Given the description of an element on the screen output the (x, y) to click on. 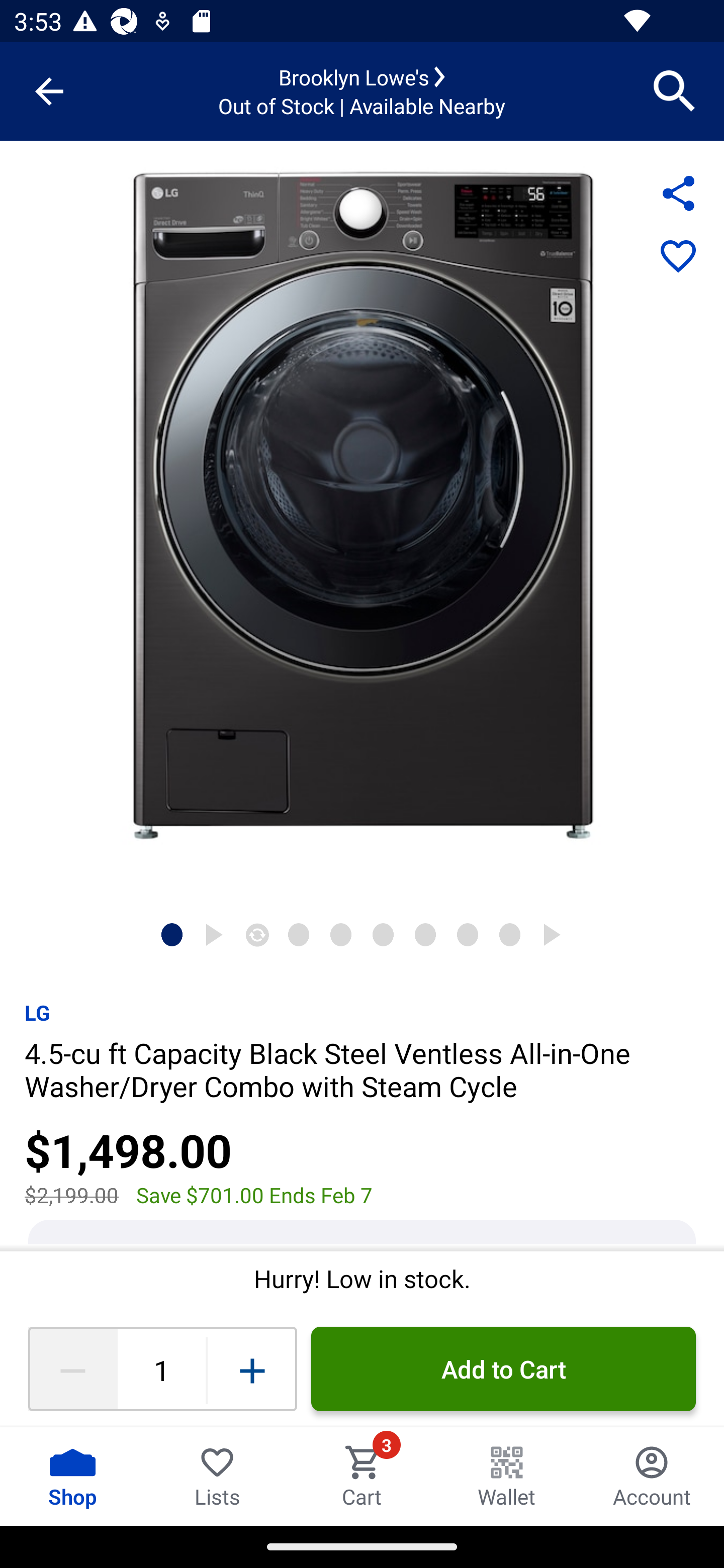
Navigate up (49, 91)
Search for products (674, 90)
Brooklyn Lowe's  Out of Stock | Available Nearby (361, 91)
Share (678, 193)
Save to List (678, 256)
Decrease quantity (72, 1368)
1 (161, 1368)
Increase quantity (251, 1368)
Add to Cart (503, 1368)
Lists (216, 1475)
Cart Cart 3 (361, 1475)
Wallet (506, 1475)
Account (651, 1475)
